Given the description of an element on the screen output the (x, y) to click on. 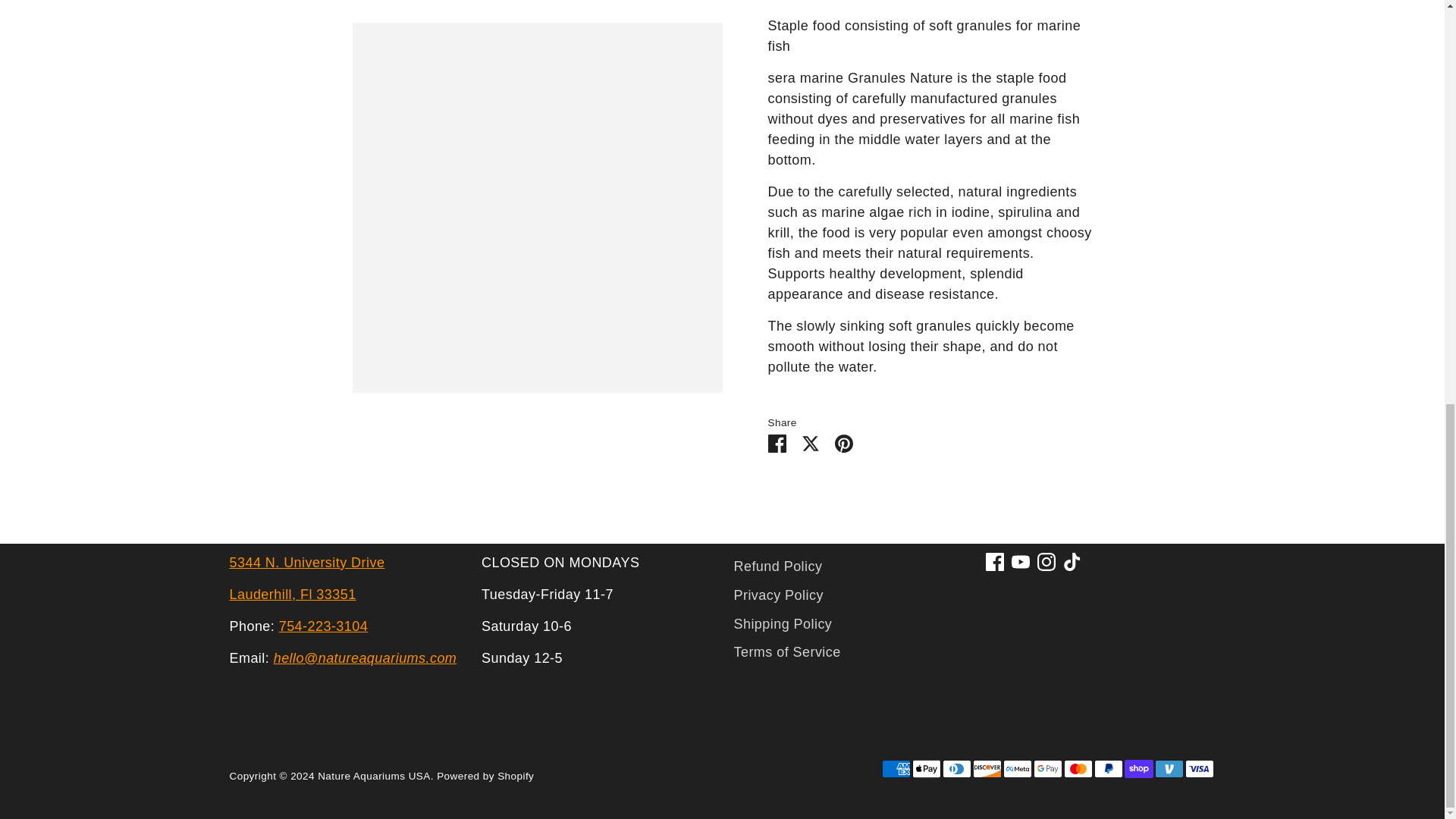
Meta Pay (1016, 769)
Discover (986, 769)
Diners Club (956, 769)
American Express (895, 769)
Apple Pay (925, 769)
